Given the description of an element on the screen output the (x, y) to click on. 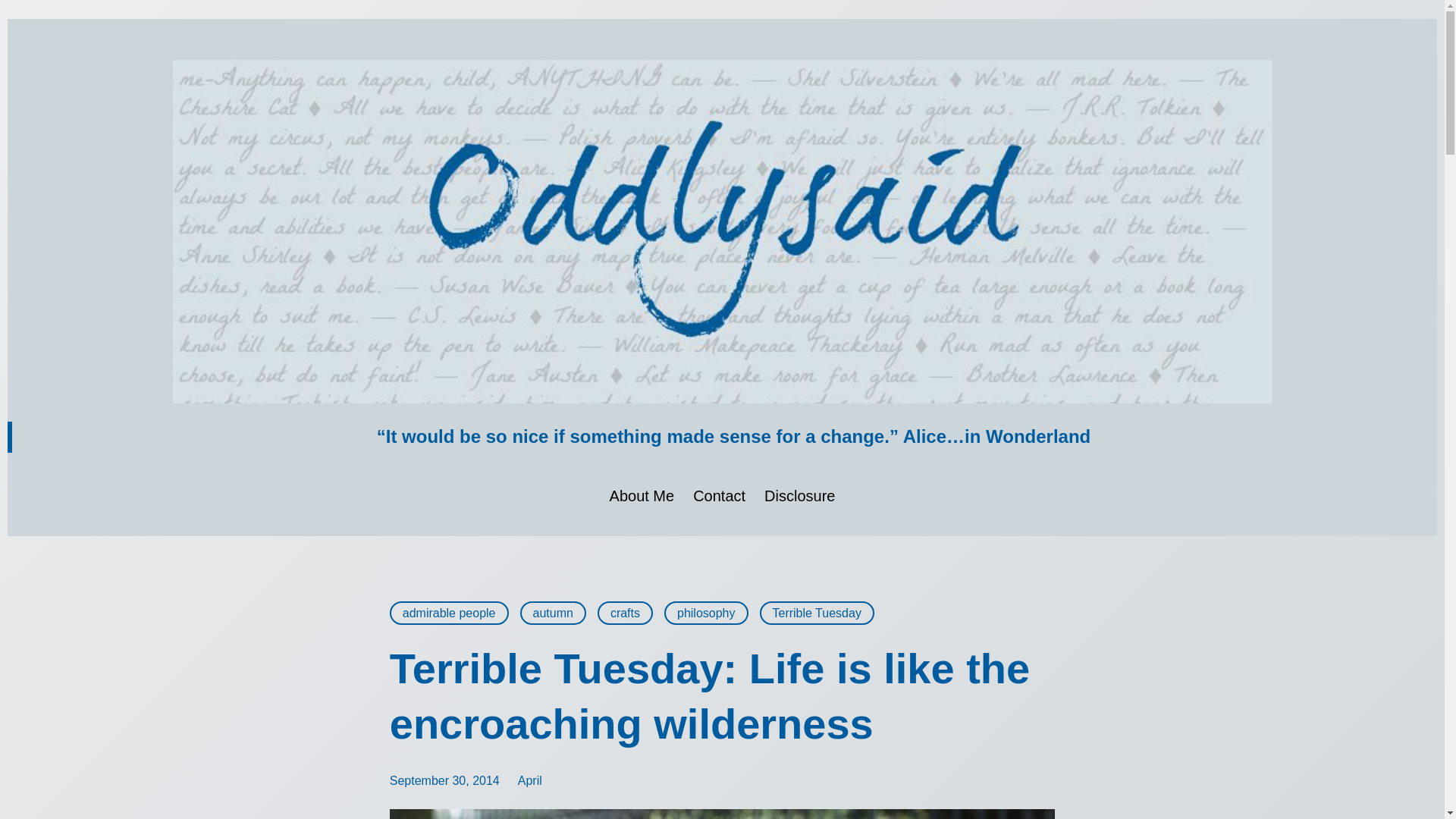
crafts (624, 612)
Contact (719, 495)
Terrible Tuesday (817, 612)
admirable people (449, 612)
About Me (642, 495)
philosophy (705, 612)
Disclosure (799, 495)
autumn (552, 612)
